Given the description of an element on the screen output the (x, y) to click on. 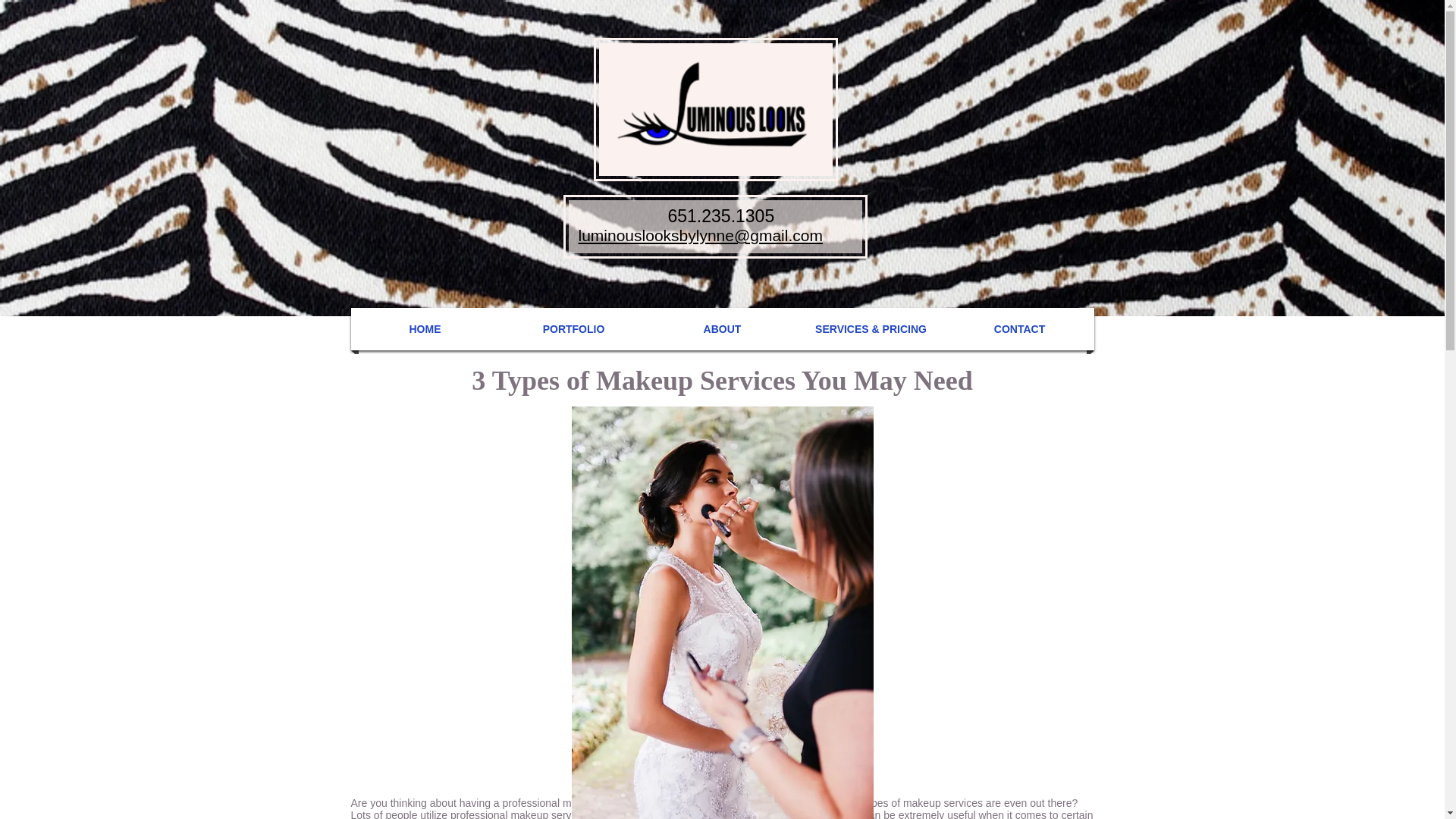
ABOUT (722, 328)
PORTFOLIO (574, 328)
HOME (425, 328)
CONTACT (1019, 328)
